Given the description of an element on the screen output the (x, y) to click on. 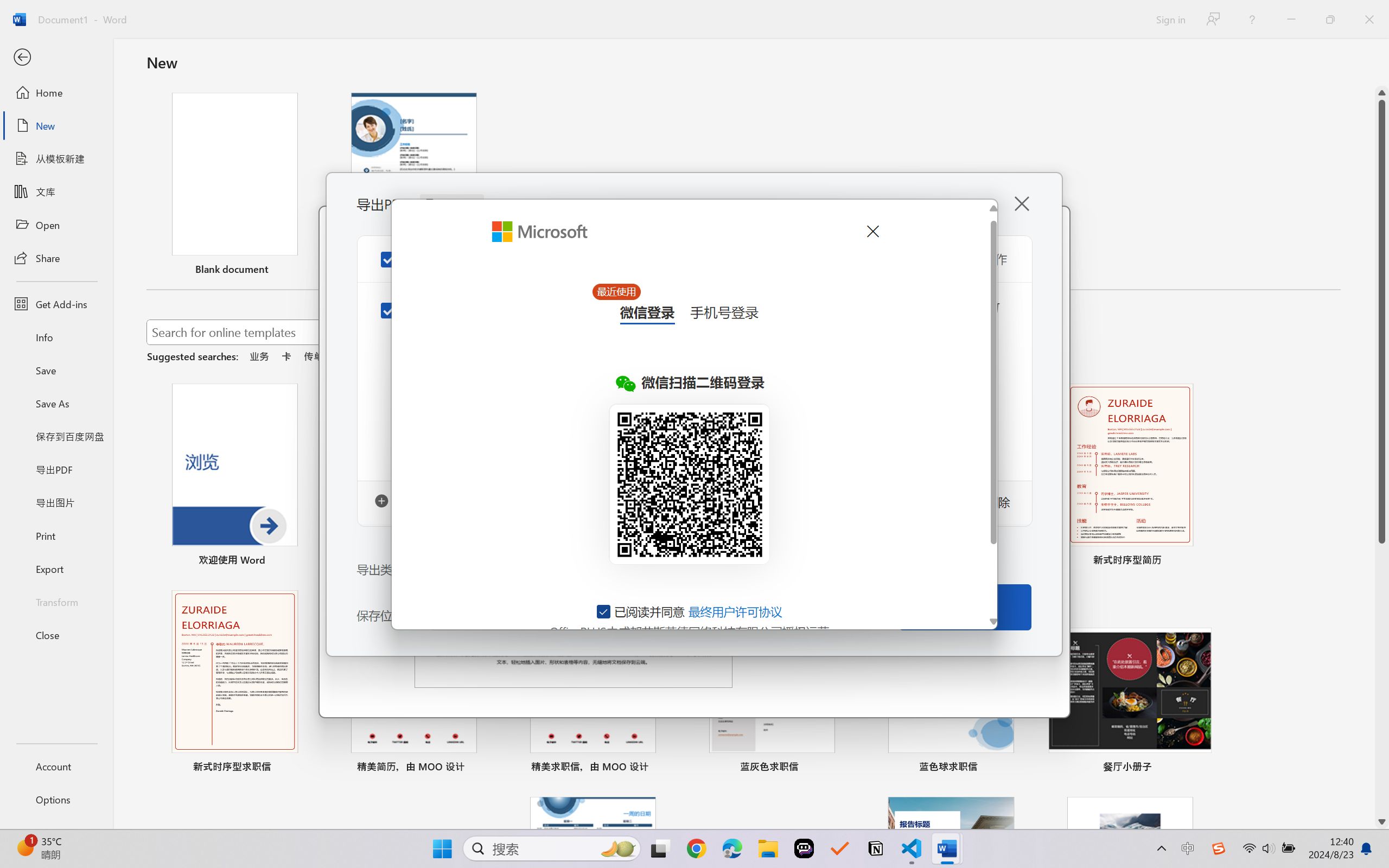
Back (56, 57)
